Given the description of an element on the screen output the (x, y) to click on. 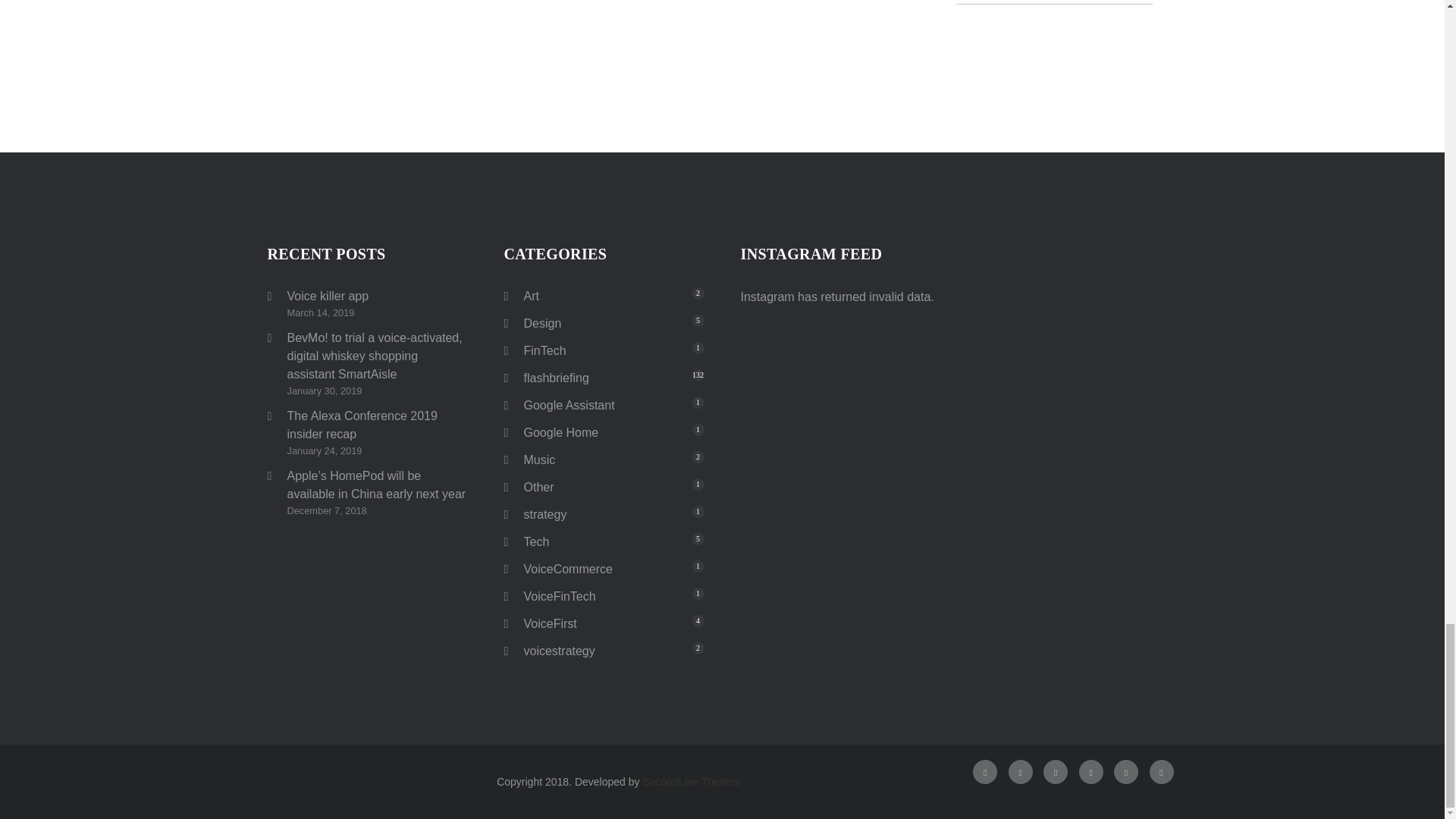
Soundcloud (1161, 771)
For the summary of every one of our flash briefings (555, 377)
RSS (1055, 771)
Podcast (1090, 771)
Android (1125, 771)
Facebook (984, 771)
Twitter (1020, 771)
